Given the description of an element on the screen output the (x, y) to click on. 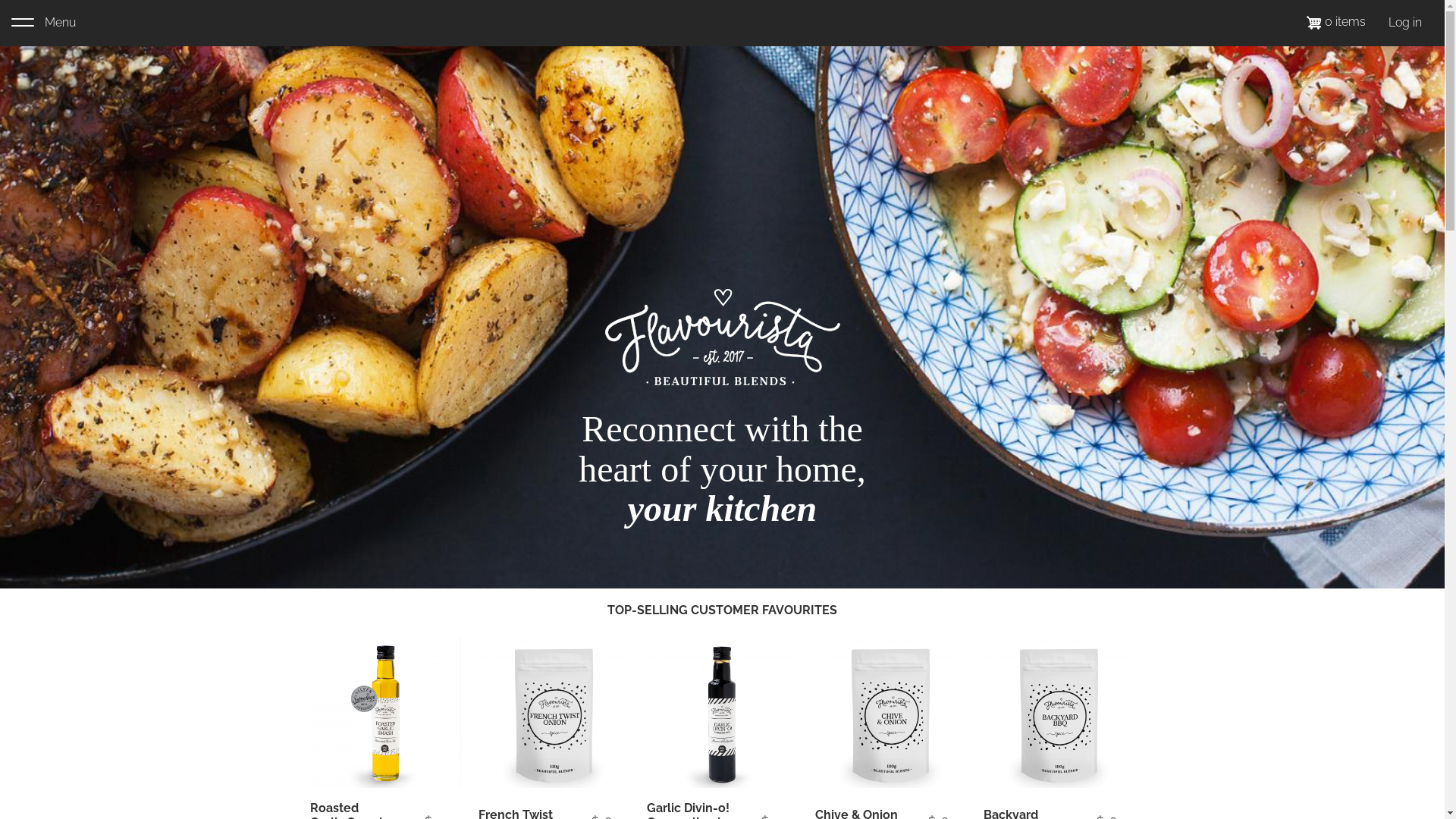
Log in Element type: text (1405, 22)
Skip to main content Element type: text (0, 0)
0 items Element type: text (1335, 21)
Menu Element type: text (43, 22)
